Given the description of an element on the screen output the (x, y) to click on. 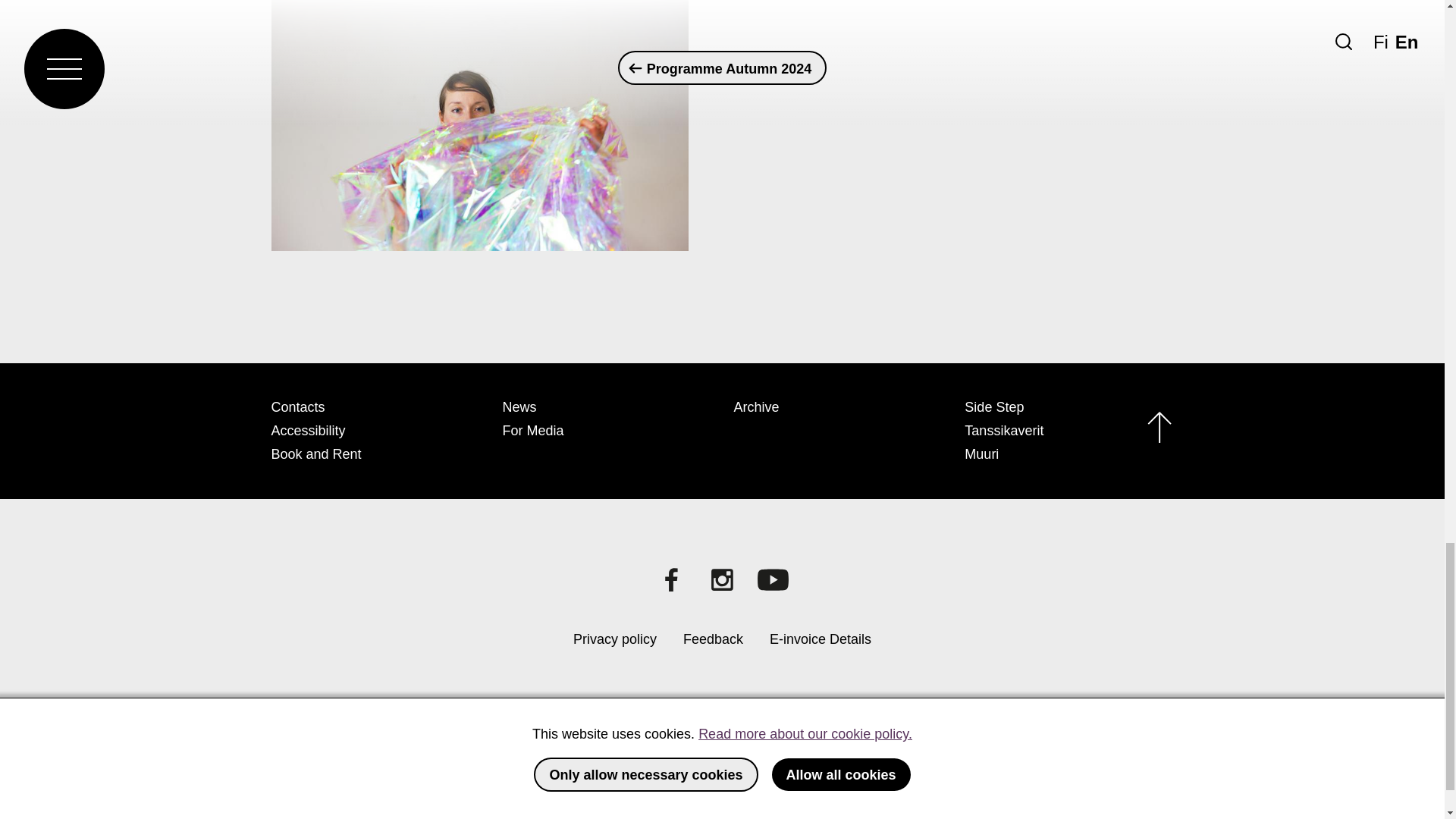
Youtube (773, 578)
Contacts (297, 406)
Book and Rent (315, 453)
Accessibility (308, 430)
Back to top (1158, 430)
Helsingin kaupunki (494, 755)
Instagram (722, 578)
Facebook (671, 578)
For Media (532, 430)
News (518, 406)
